Given the description of an element on the screen output the (x, y) to click on. 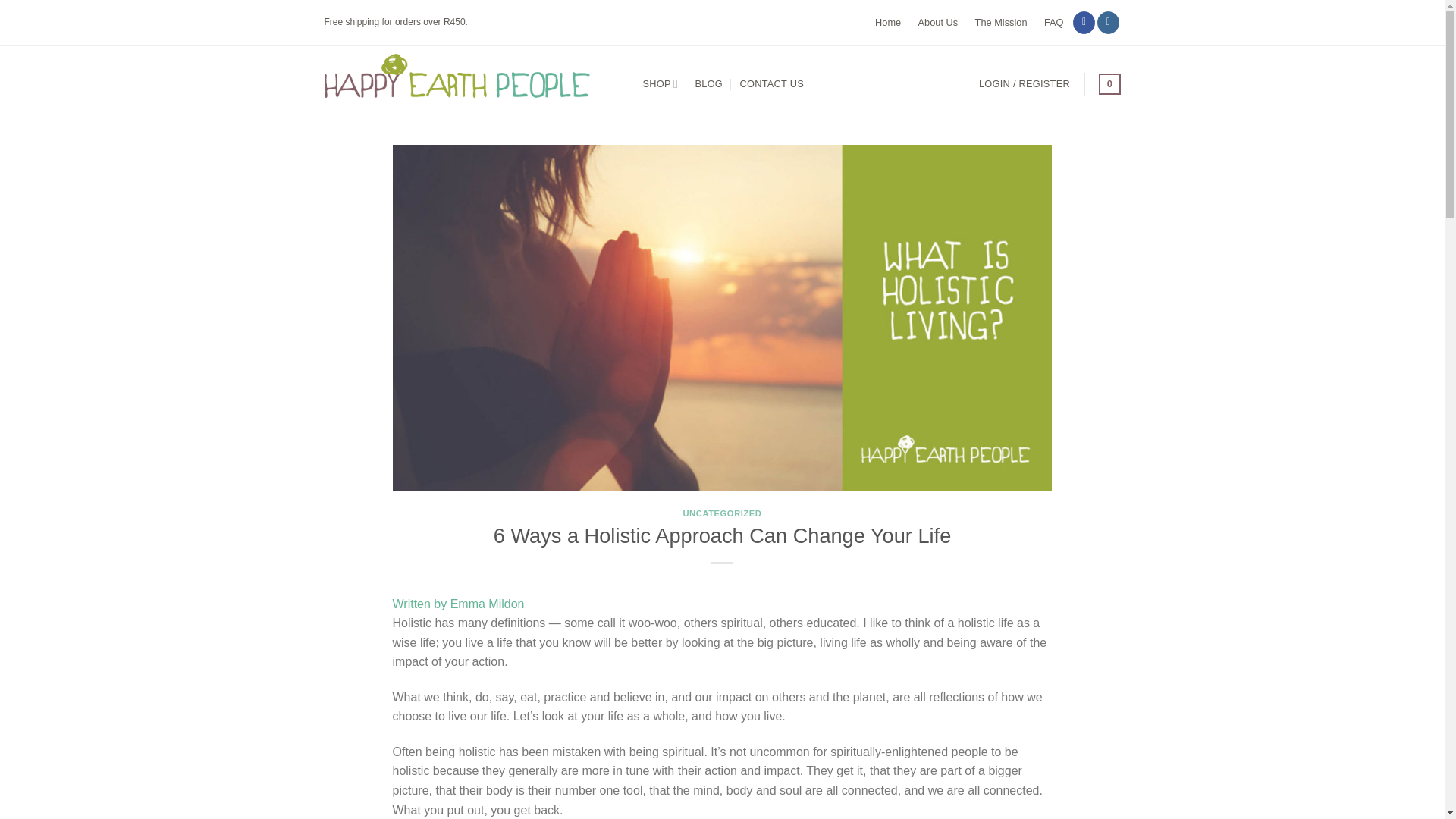
About Us (938, 22)
SHOP (660, 83)
Follow on Facebook (1083, 22)
Happy Earth People - Lets live in harmony with nature. (472, 83)
FAQ (1053, 22)
Follow on Instagram (1108, 22)
CONTACT US (771, 83)
UNCATEGORIZED (721, 512)
Home (888, 22)
BLOG (708, 83)
The Mission (1001, 22)
Login (1024, 83)
Written by Emma Mildon (458, 603)
